Given the description of an element on the screen output the (x, y) to click on. 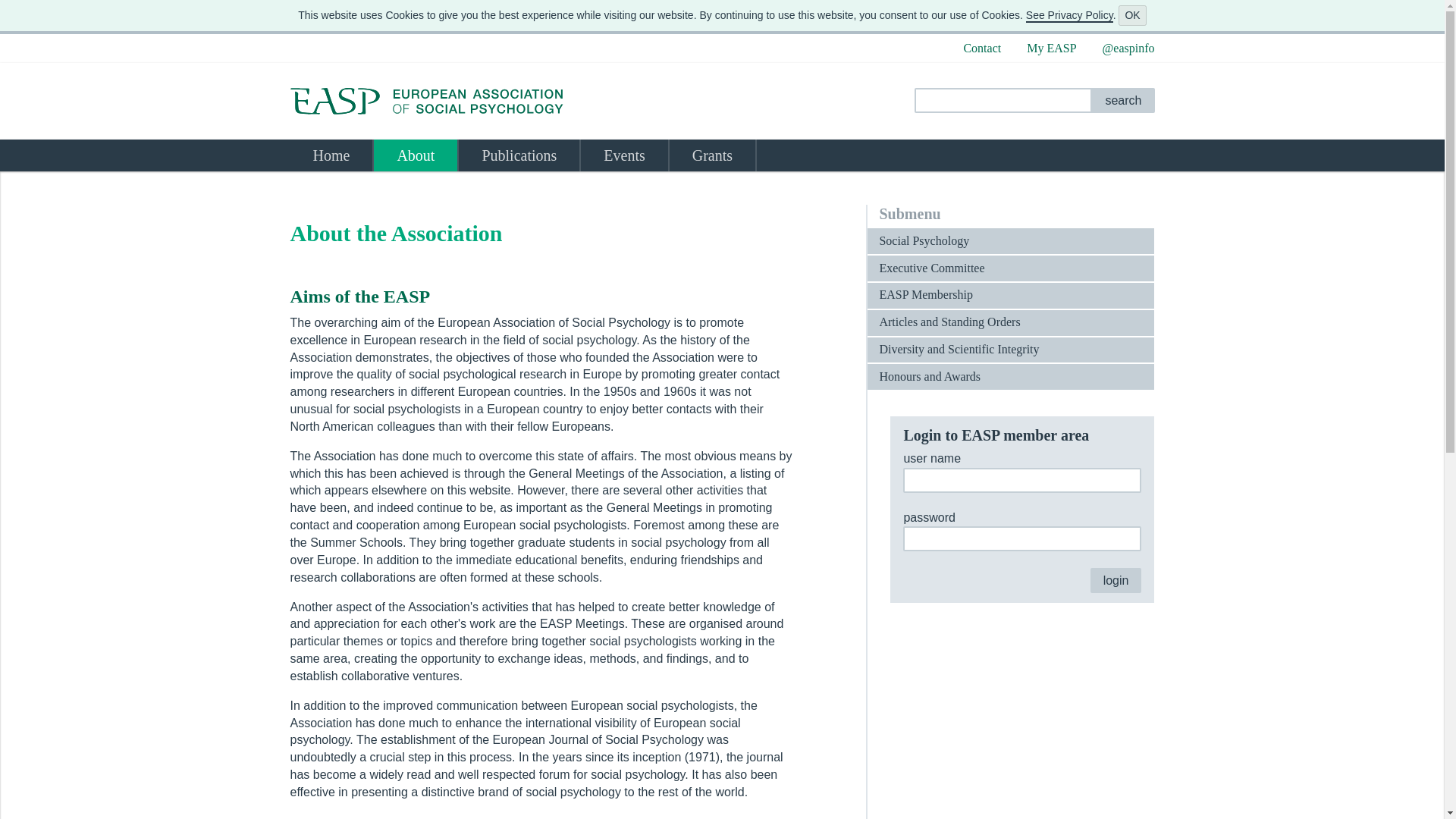
search (1123, 100)
Publications (518, 155)
Home (330, 155)
Events (623, 155)
Contact (981, 47)
search (1123, 100)
My EASP (1050, 47)
About (415, 155)
Grants (712, 155)
See Privacy Policy (1069, 15)
